Given the description of an element on the screen output the (x, y) to click on. 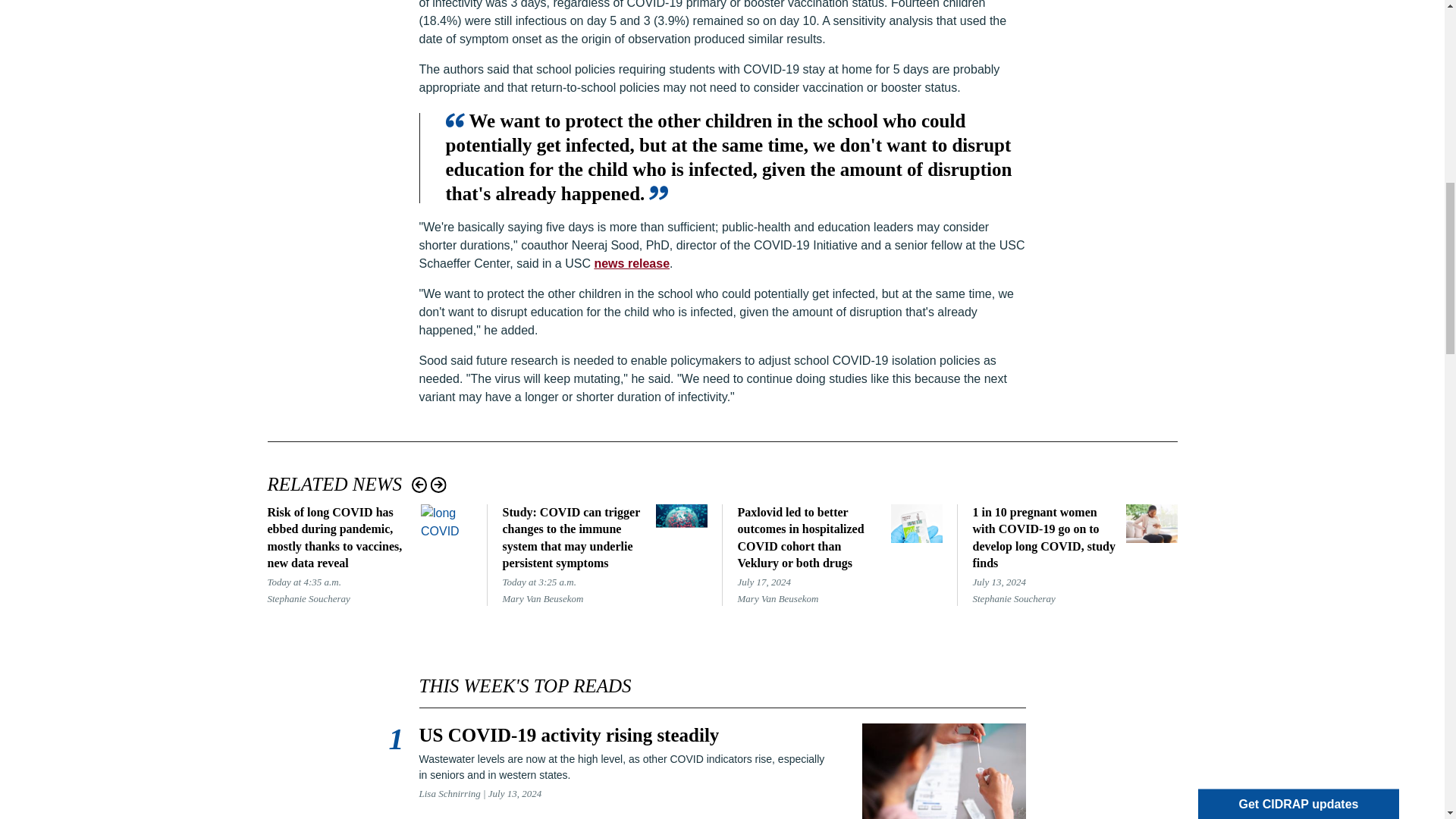
on (1214, 40)
256 (1214, 76)
1 (1214, 58)
32768 (1214, 112)
Subscribe (1263, 195)
1024 (1214, 94)
16384 (1214, 130)
